Given the description of an element on the screen output the (x, y) to click on. 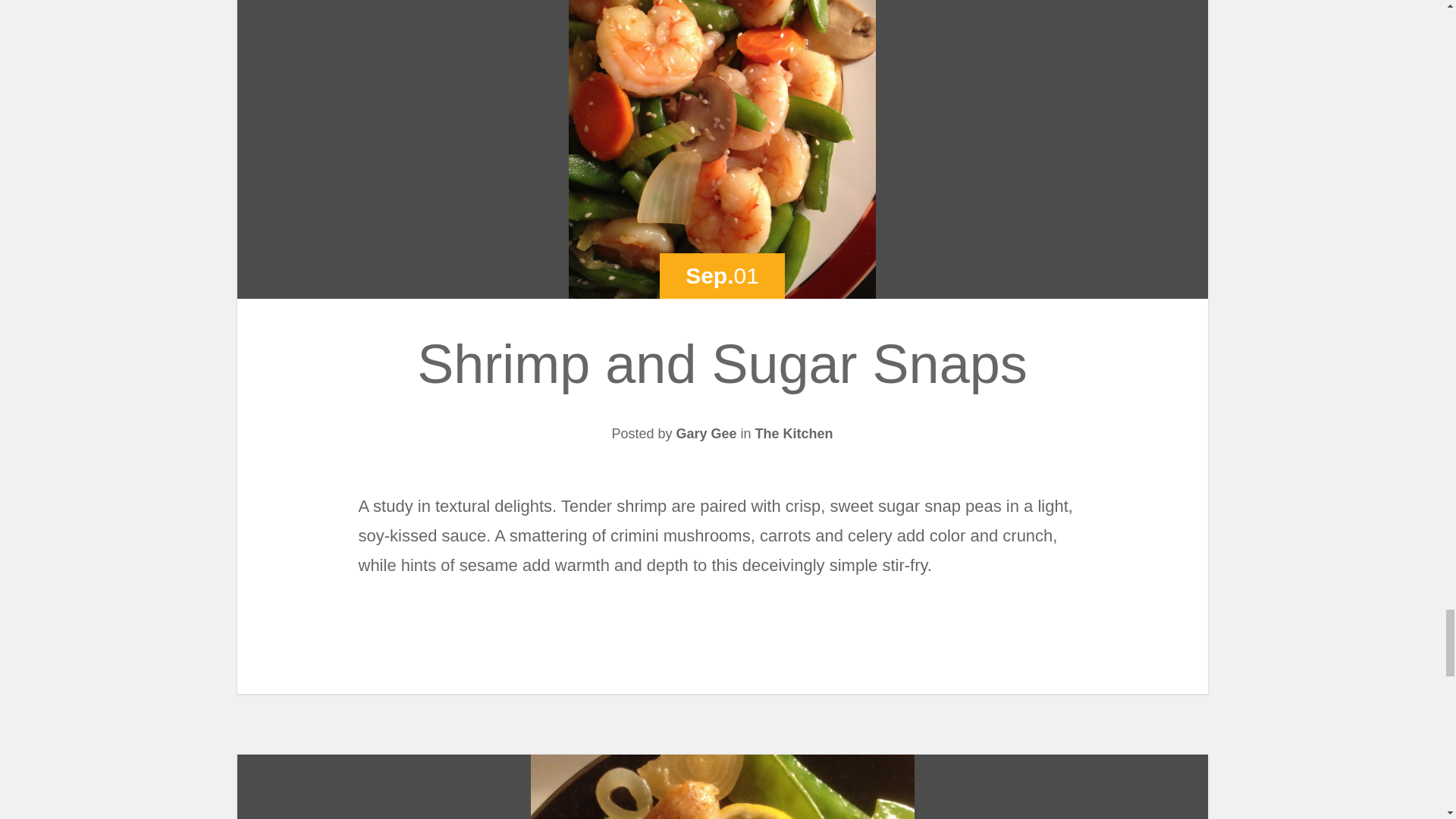
Posts by Gary Gee (705, 433)
